Given the description of an element on the screen output the (x, y) to click on. 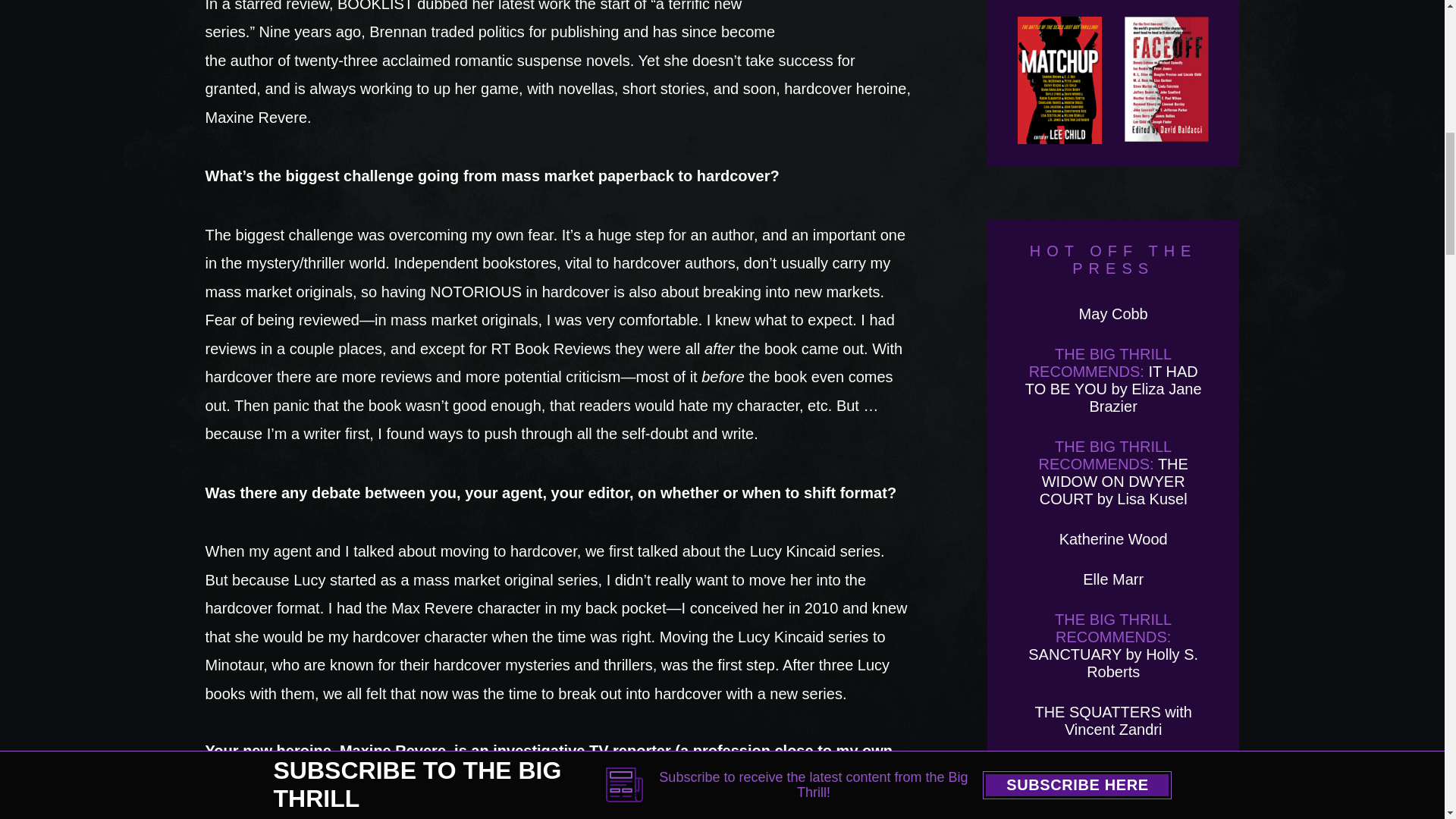
May Cobb (1113, 313)
FACEOFF! In Stores Now! (1166, 80)
The Big Thrill Recommends: SANCTUARY by Holly S. Roberts (1112, 645)
Katherine Wood (1113, 538)
DEATH NOTICE with Simon Maltman (1112, 778)
Elle Marr (1112, 579)
MATCH UP! In Stores Now! (1059, 80)
THE SQUATTERS with Vincent Zandri (1112, 720)
